Given the description of an element on the screen output the (x, y) to click on. 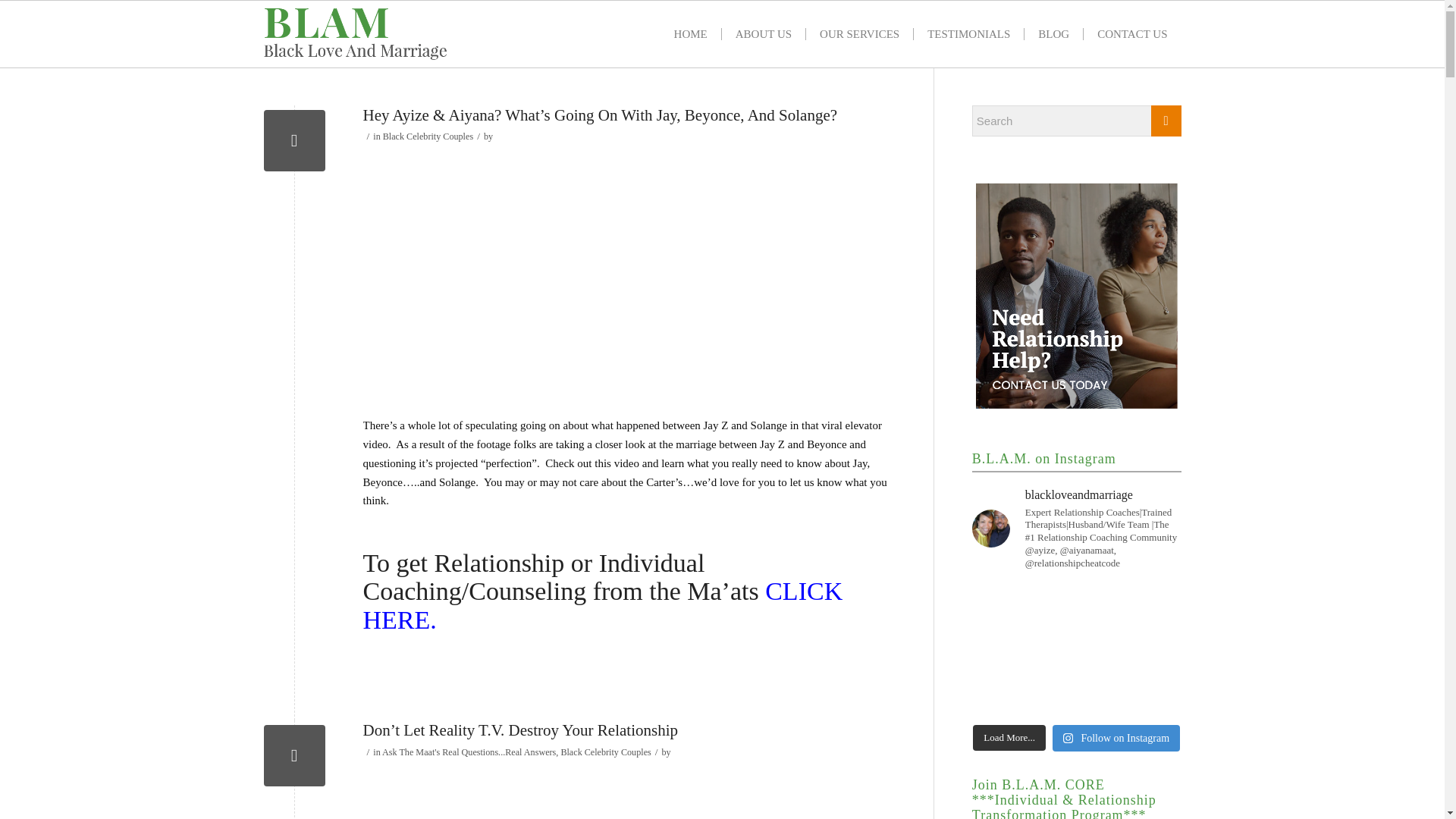
TESTIMONIALS (967, 33)
HOME (690, 33)
logo (355, 33)
Don't Let Reality T.V. Destroy Your Relationship (293, 755)
ABOUT US (762, 33)
Ask The Maat's Real Questions...Real Answers (468, 751)
Black Celebrity Couples (605, 751)
CLICK HERE (602, 605)
Black Celebrity Couples (427, 136)
OUR SERVICES (858, 33)
